Given the description of an element on the screen output the (x, y) to click on. 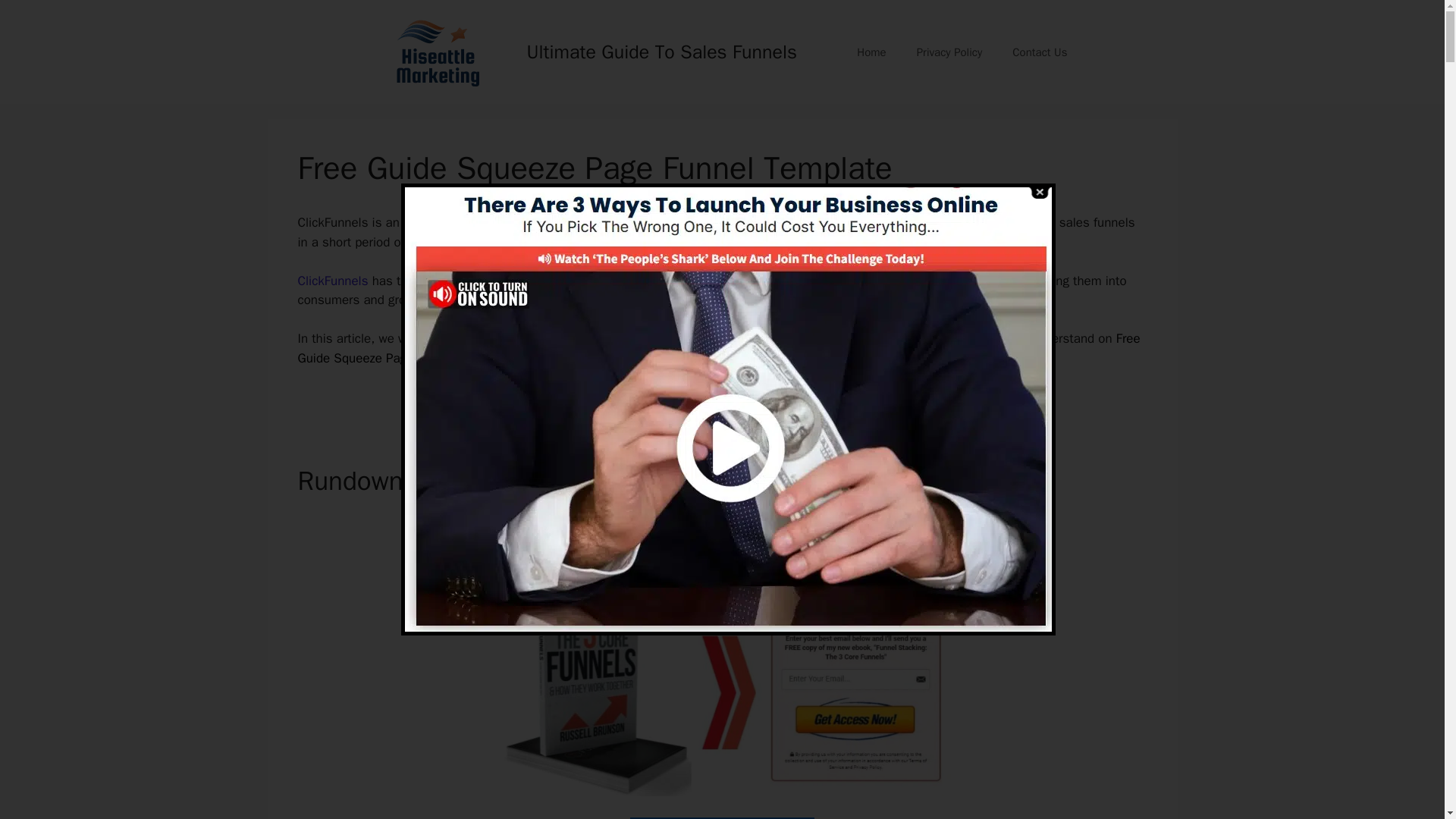
Home (871, 51)
Privacy Policy (949, 51)
Ultimate Guide To Sales Funnels (660, 51)
Contact Us (1039, 51)
ClickFunnels (332, 280)
